Given the description of an element on the screen output the (x, y) to click on. 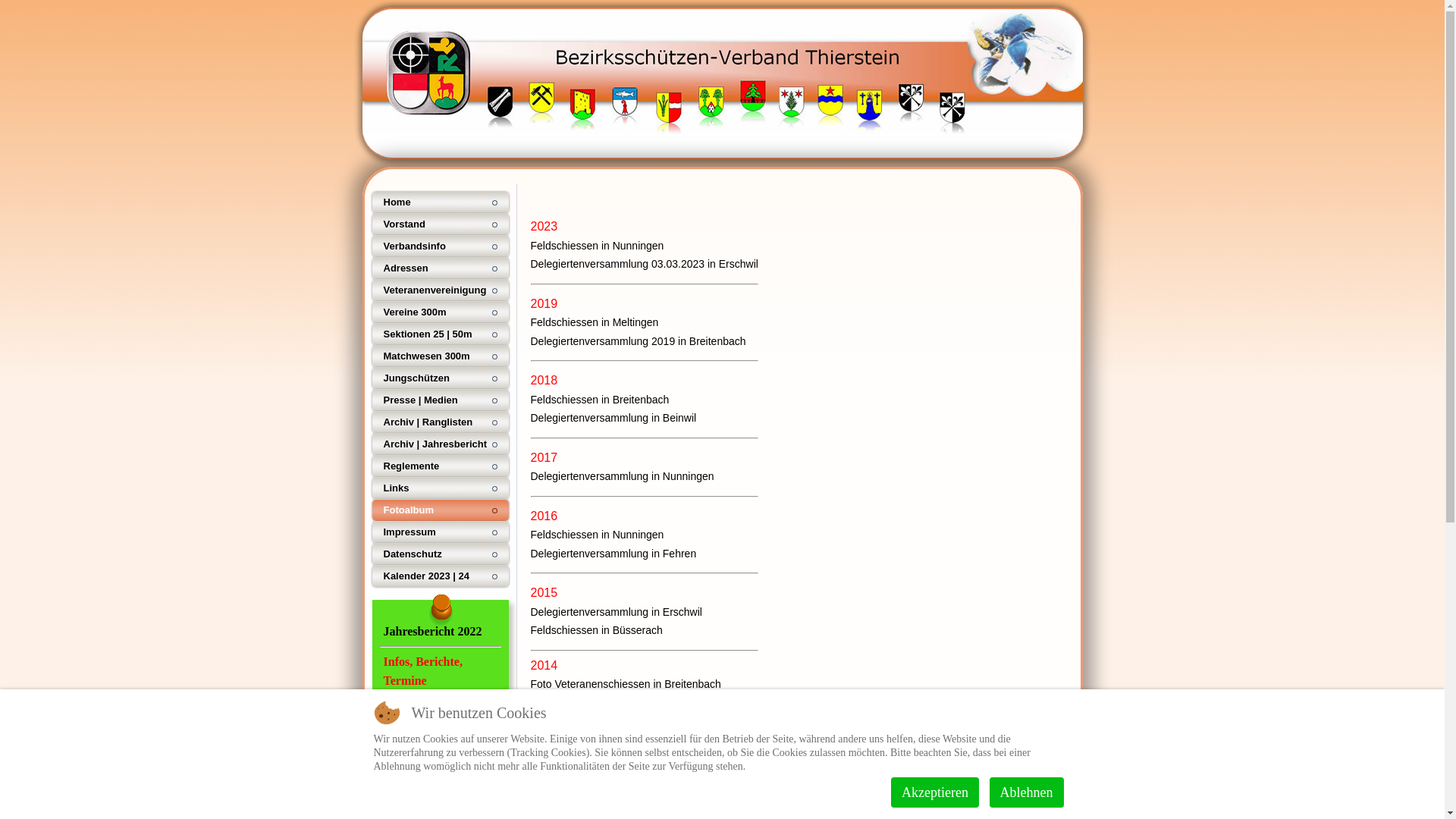
Vorstand Element type: text (439, 224)
Ablehnen Element type: text (1026, 792)
Delegiertenversammlung 2019 in Breitenbach Element type: text (638, 341)
Presse | Medien Element type: text (439, 400)
Delegiertenversammlung in Beinwil Element type: text (613, 417)
Adressen Element type: text (439, 268)
Delegiertenversammlung in Erschwil Element type: text (616, 611)
Feldschiessen in Meltingen Element type: text (594, 322)
Feldschiessen in Nunningen Element type: text (597, 245)
Feldschiessen in Nunningen Element type: text (597, 534)
Veteranenvereinigung Element type: text (439, 290)
Home Element type: text (439, 202)
Archiv | Jahresbericht Element type: text (439, 444)
Impressum Element type: text (439, 531)
Sektionen 25 | 50m Element type: text (439, 334)
Delegiertenversammlung in Nunningen Element type: text (622, 793)
HIER im Bulletin Element type: text (439, 700)
Vereine 300m Element type: text (439, 312)
Archiv | Ranglisten Element type: text (439, 422)
Datenschutz Element type: text (439, 553)
Foto Veteranenschiessen in Breitenbach Element type: text (625, 683)
Links Element type: text (439, 487)
Delegiertenversammlung 03.03.2023 in Erschw Element type: text (641, 263)
Matchwesen 300m Element type: text (439, 356)
Verbandsinfo Element type: text (439, 246)
Akzeptieren Element type: text (935, 792)
Feldschiessen in Breitenbach Element type: text (599, 398)
Feldschiessen in Erschwil Element type: text (591, 702)
Delegiertenversammlung in Nunningen Element type: text (622, 476)
Kalender 2023 | 24 Element type: text (439, 575)
Reglemente Element type: text (439, 465)
il Element type: text (755, 263)
Fotoalbum Element type: text (439, 509)
